Given the description of an element on the screen output the (x, y) to click on. 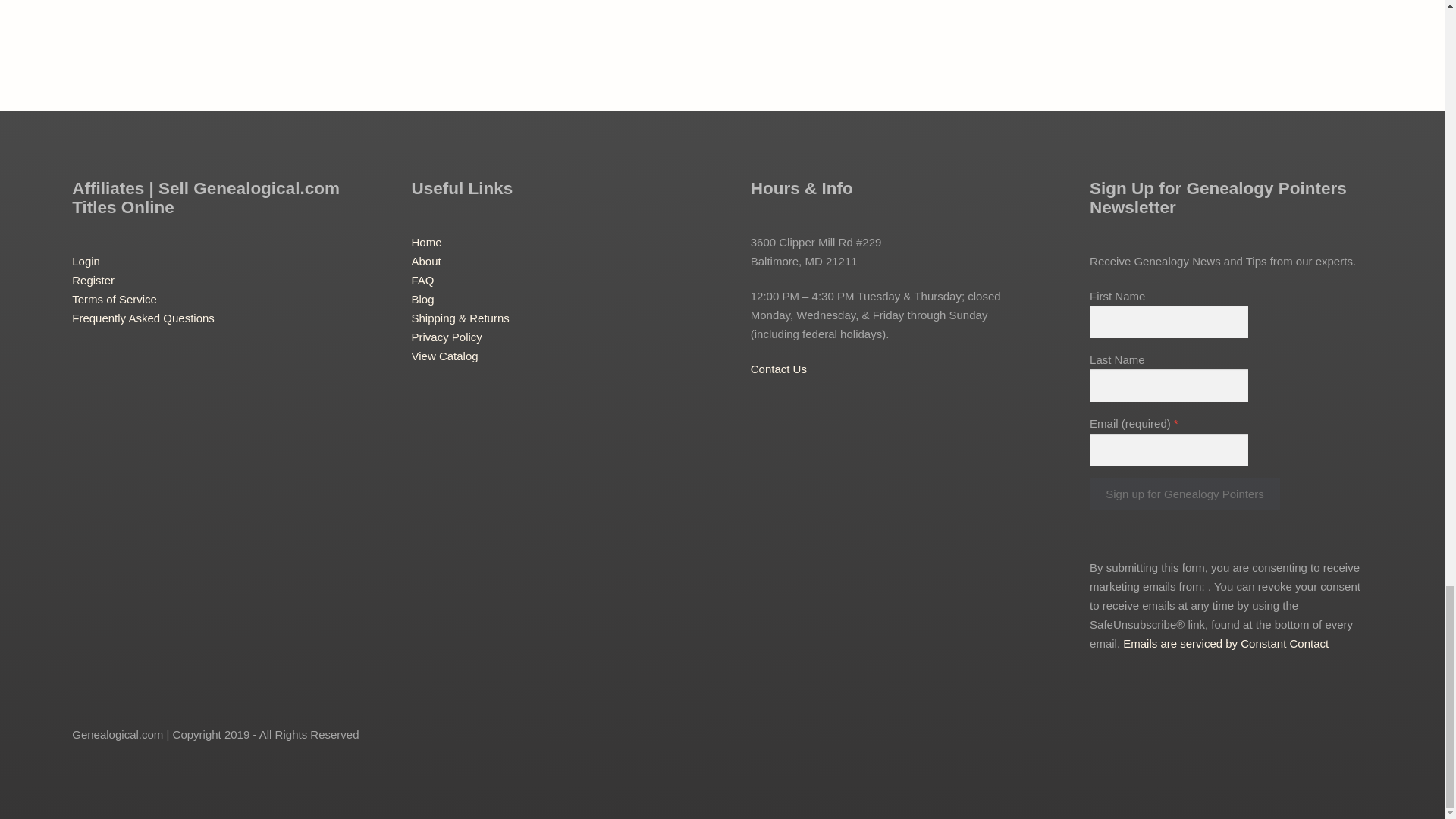
Sign up for Genealogy Pointers (1184, 493)
